Given the description of an element on the screen output the (x, y) to click on. 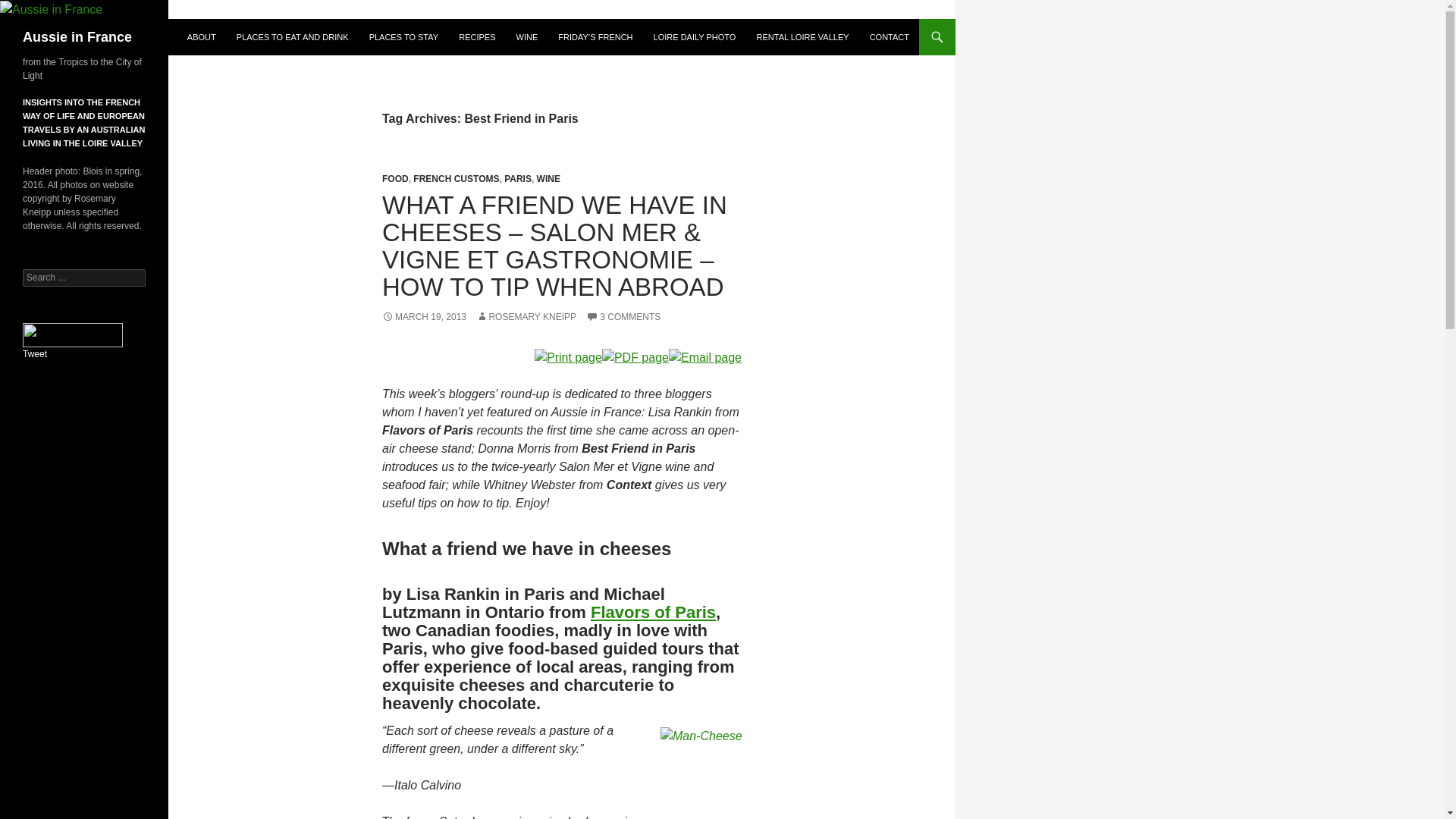
RENTAL LOIRE VALLEY (803, 36)
WINE (526, 36)
ABOUT (201, 36)
WINE (548, 178)
FRENCH CUSTOMS (456, 178)
Email page (704, 356)
3 COMMENTS (623, 317)
PDF page (635, 356)
Print page (568, 356)
Aussie in France (77, 36)
